Given the description of an element on the screen output the (x, y) to click on. 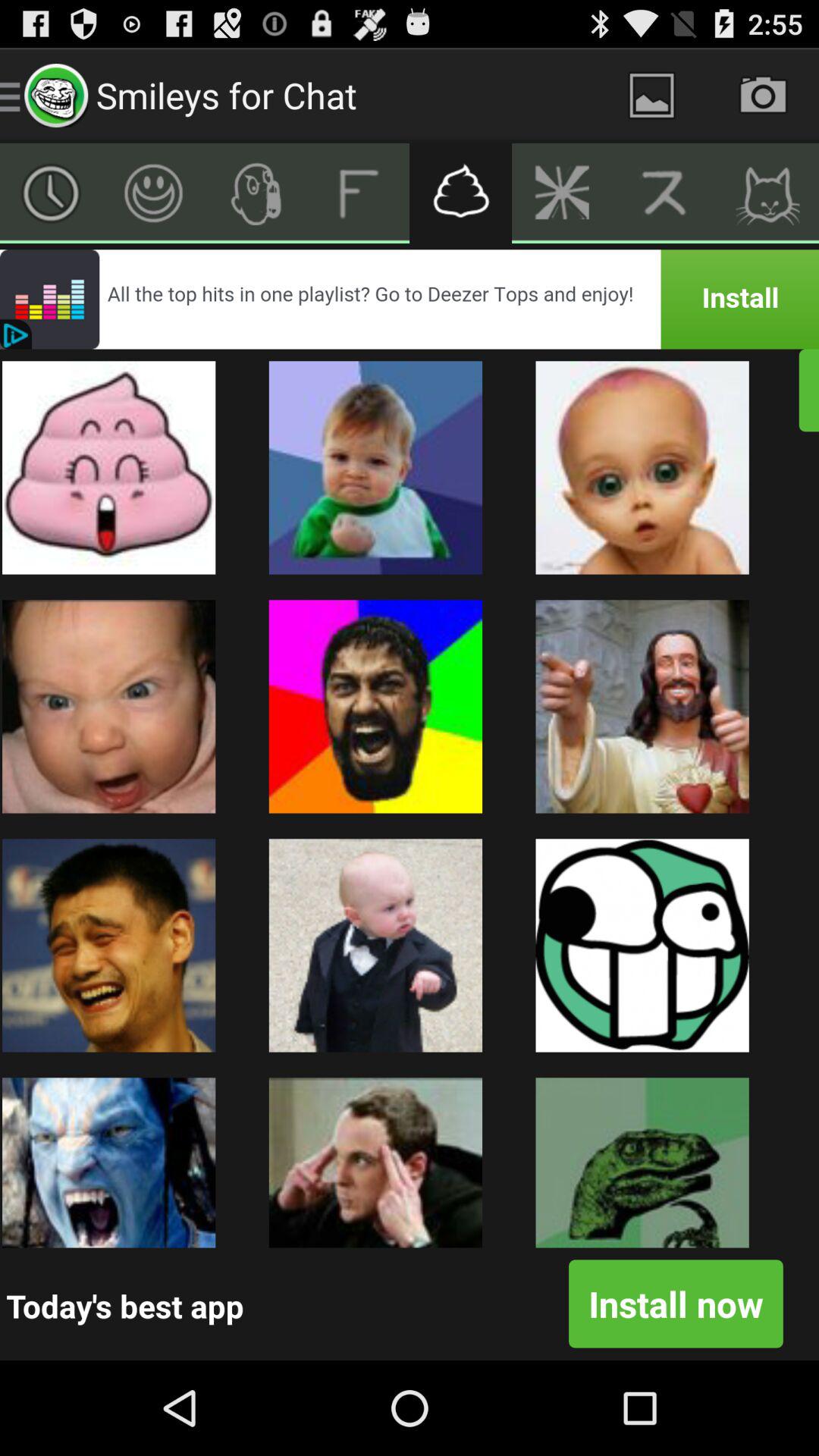
switch autoplay option (460, 193)
